Given the description of an element on the screen output the (x, y) to click on. 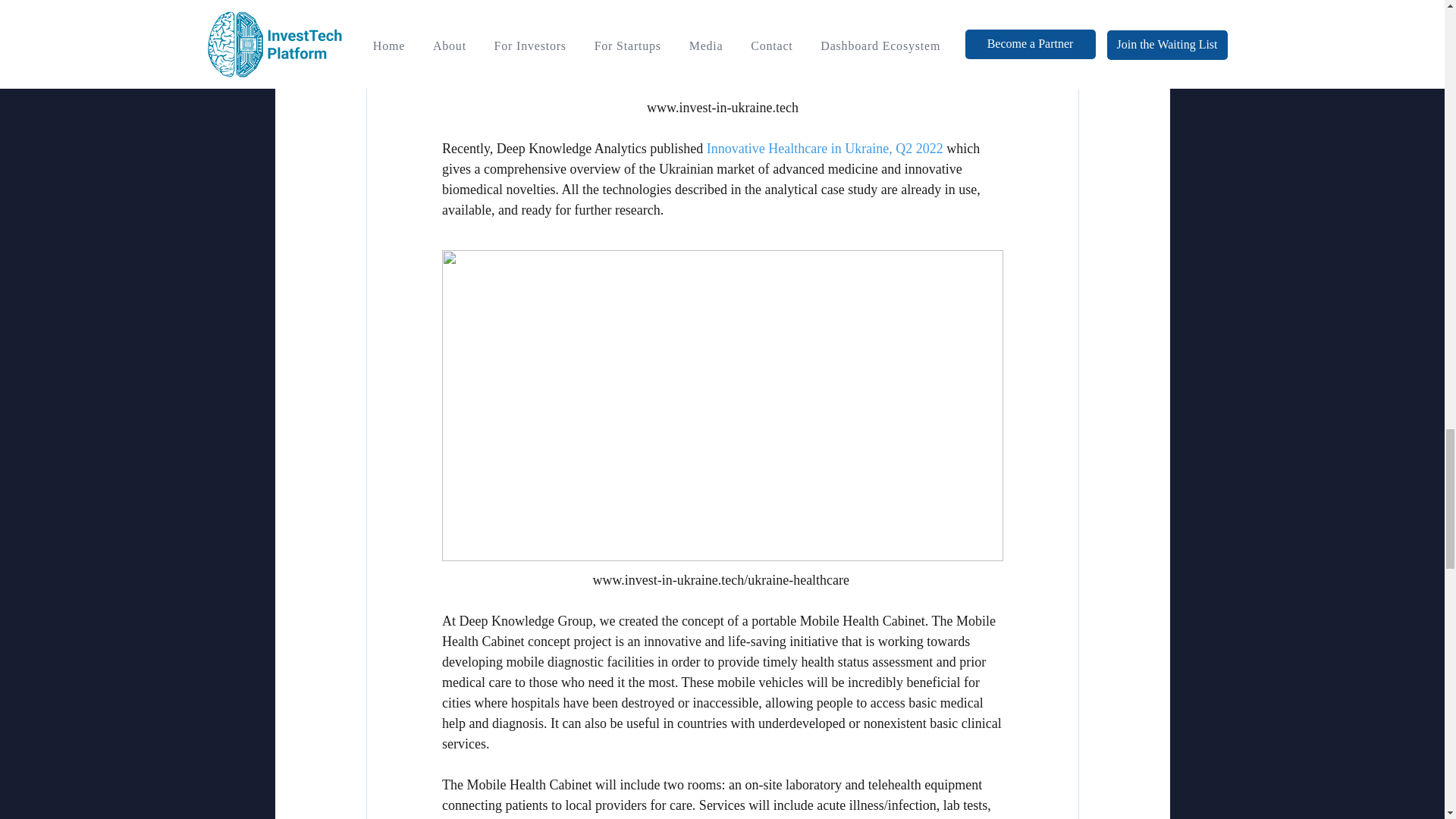
Innovative Healthcare in Ukraine, Q2 2022 (824, 148)
